Given the description of an element on the screen output the (x, y) to click on. 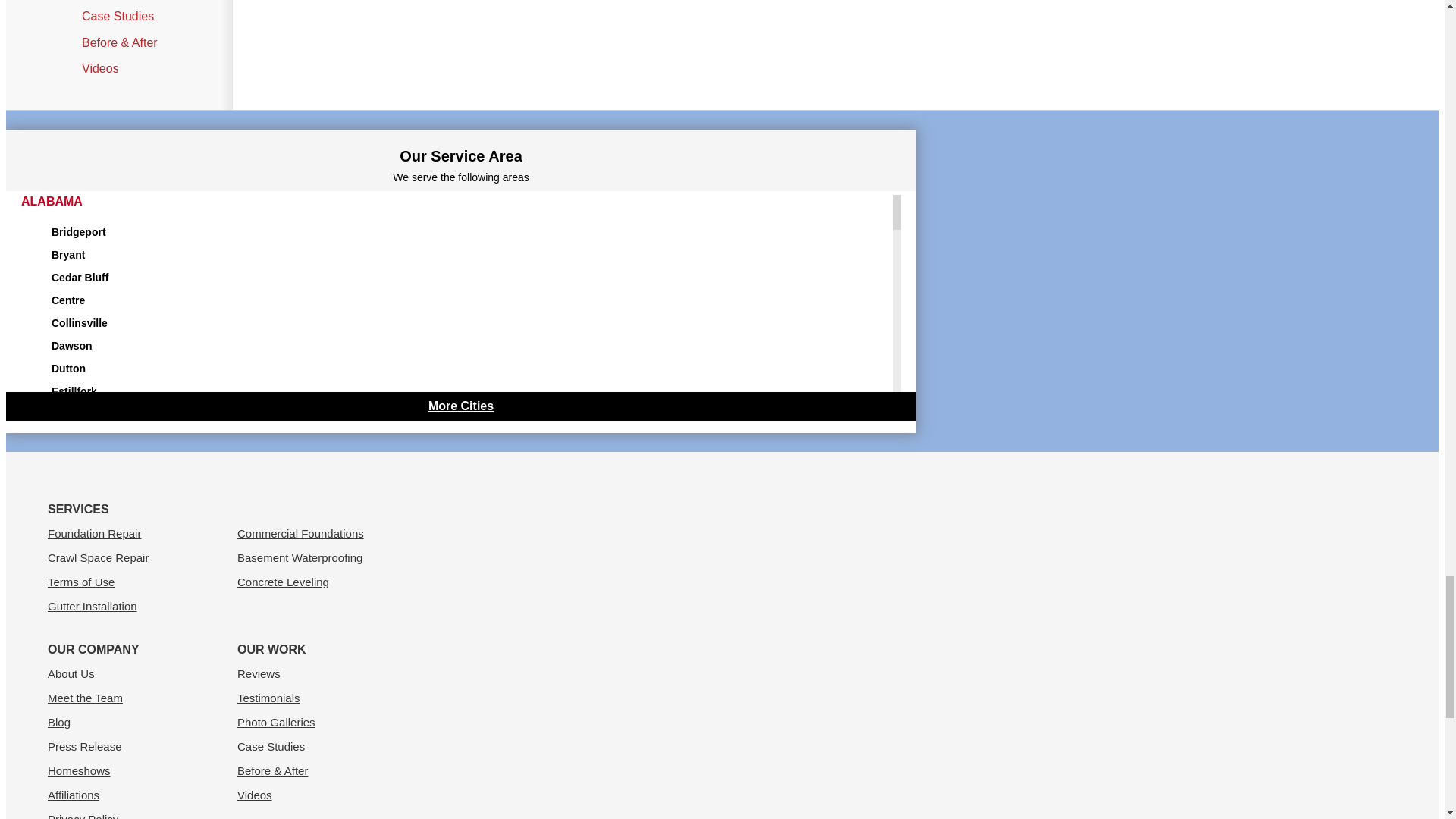
More Cities (460, 406)
ALABAMA (51, 201)
